Given the description of an element on the screen output the (x, y) to click on. 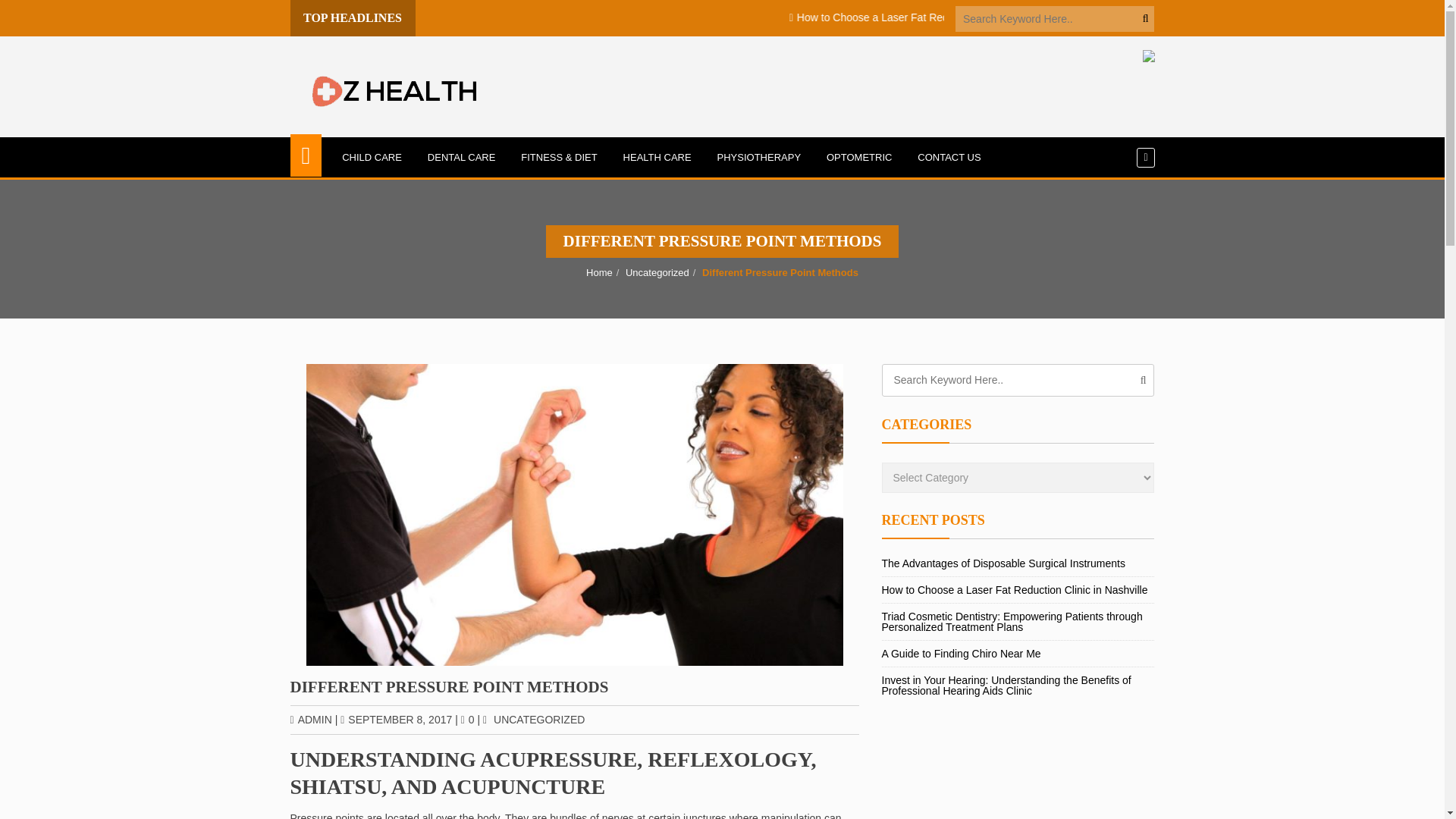
OPTOMETRIC (858, 157)
CHILD CARE (371, 157)
ADMIN (310, 719)
UNCATEGORIZED (539, 719)
PHYSIOTHERAPY (759, 157)
Home (599, 272)
A Guide to Finding Chiro Near Me (1332, 17)
HEALTH CARE (657, 157)
0 (467, 719)
SEPTEMBER 8, 2017 (395, 719)
